Given the description of an element on the screen output the (x, y) to click on. 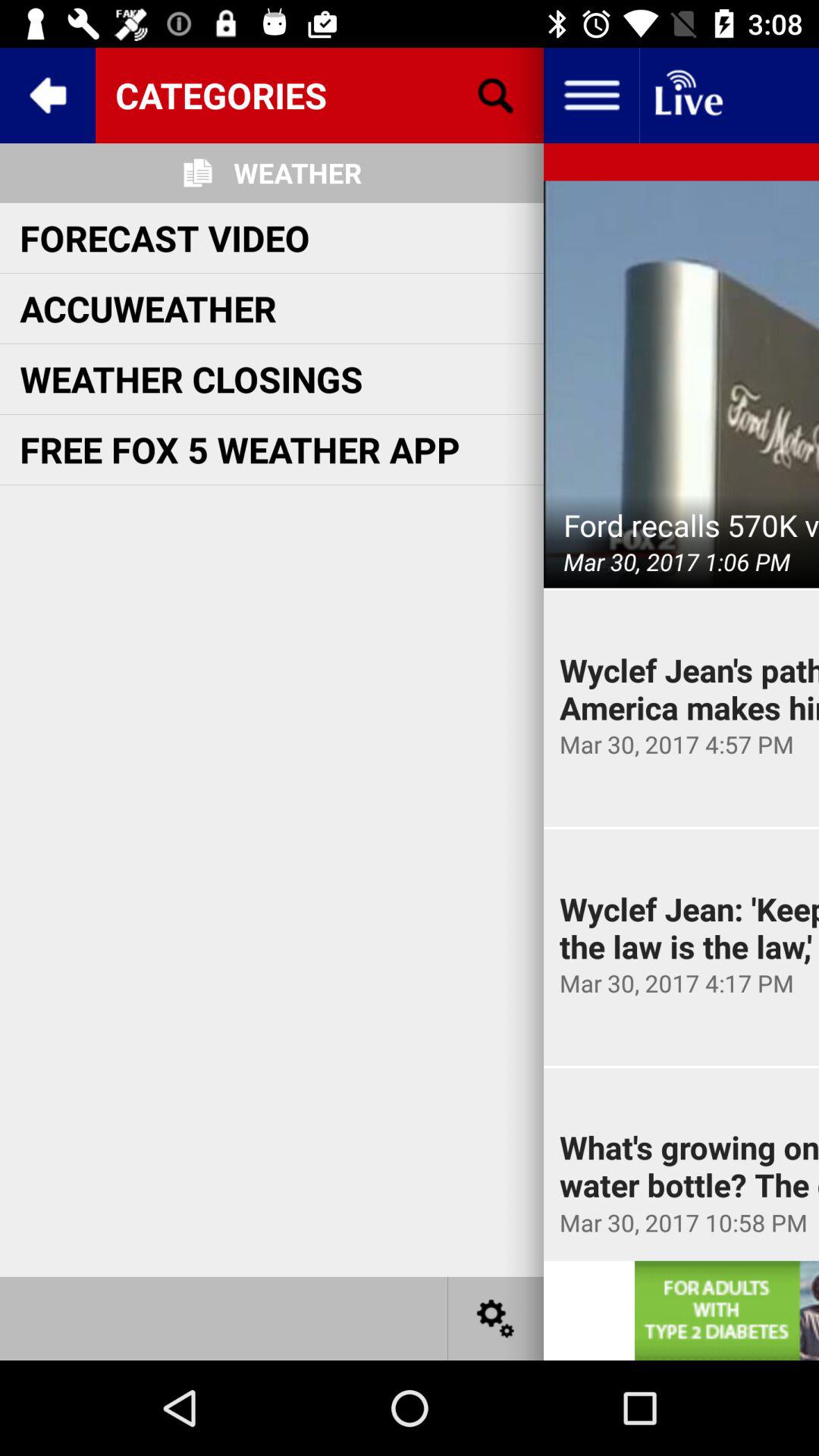
search section (495, 95)
